Given the description of an element on the screen output the (x, y) to click on. 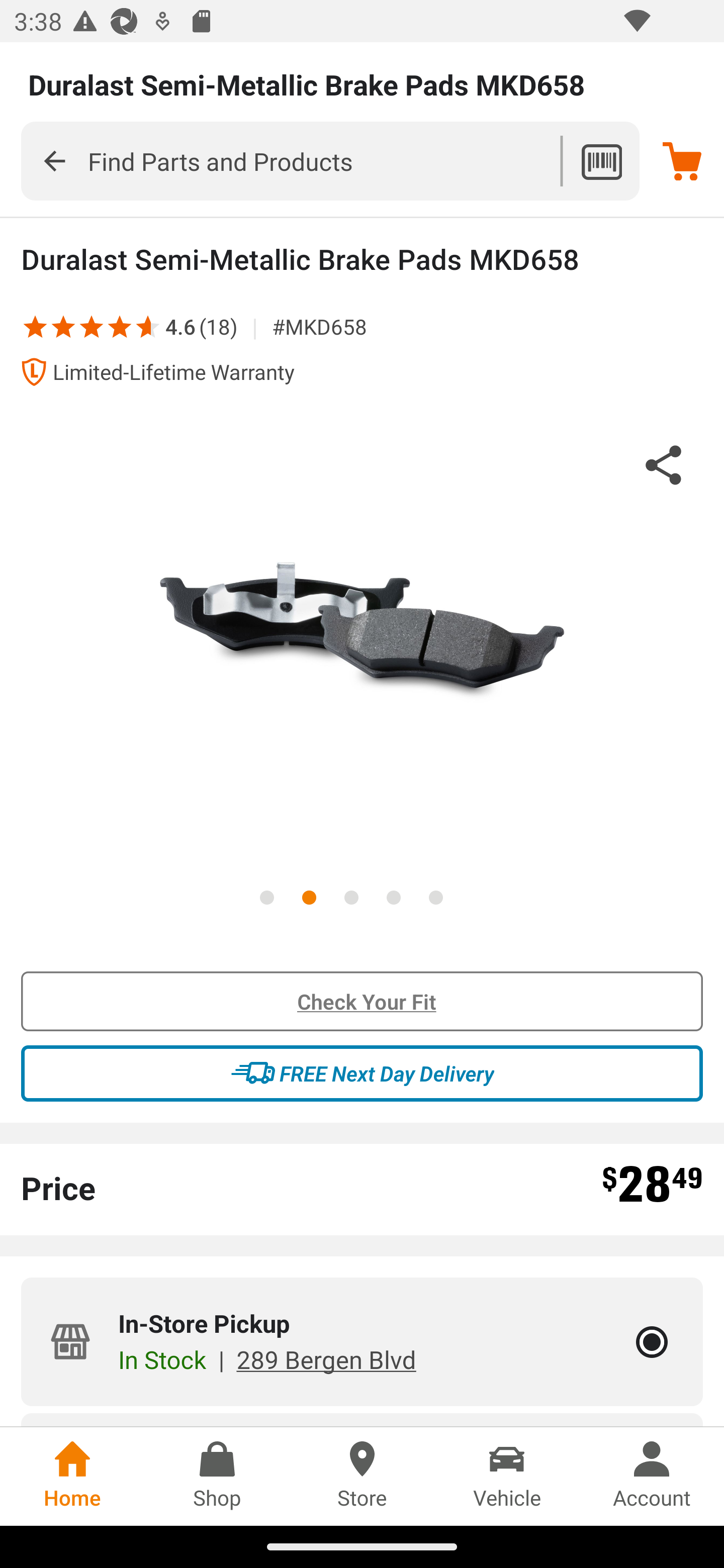
 scan-product-to-search  (601, 161)
 (54, 160)
Cart, no items  (681, 160)
 (34, 326)
 (63, 326)
 (91, 326)
 (119, 326)
 (141, 326)
share button (663, 468)
Check your fit Check Your Fit (361, 1001)
In-Store Pickup (651, 1341)
In Stock  |  289 Bergen Blvd (267, 1359)
Home (72, 1475)
Shop (216, 1475)
Store (361, 1475)
Vehicle (506, 1475)
Account (651, 1475)
